Given the description of an element on the screen output the (x, y) to click on. 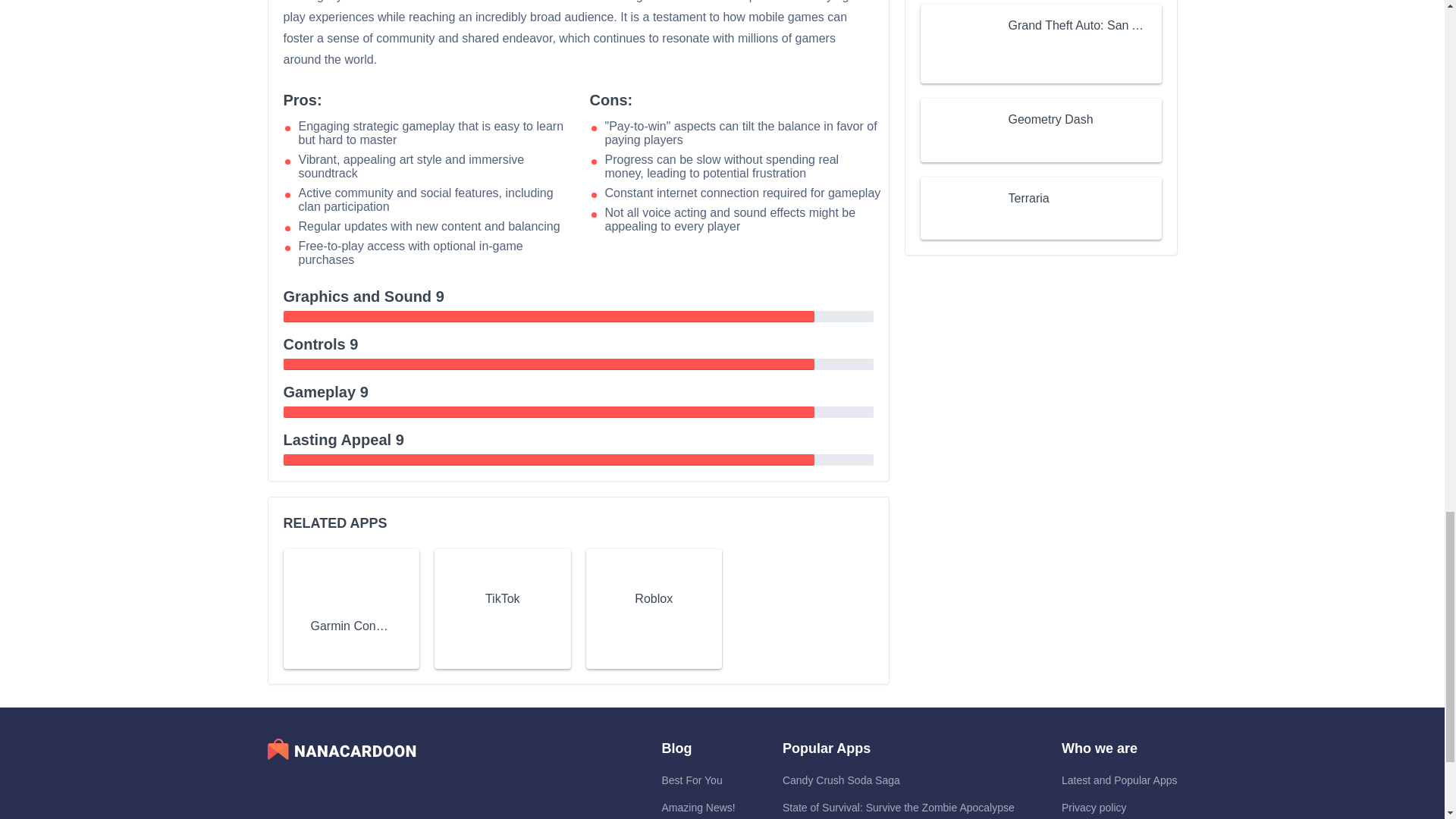
User rating 4.4 (653, 620)
User rating 4.6 (501, 620)
Geometry Dash (1051, 119)
Best For You (691, 779)
Latest and Popular Apps (1119, 779)
Candy Crush Soda Saga (841, 779)
TikTok (501, 598)
User rating 4.1 (1042, 221)
Roblox (653, 598)
User rating 4.4 (350, 647)
User rating 4.6 (1042, 142)
Grand Theft Auto: San Andreas (1078, 25)
State of Survival: Survive the Zombie Apocalypse (898, 807)
Terraria (1029, 198)
Privacy policy (1093, 807)
